Given the description of an element on the screen output the (x, y) to click on. 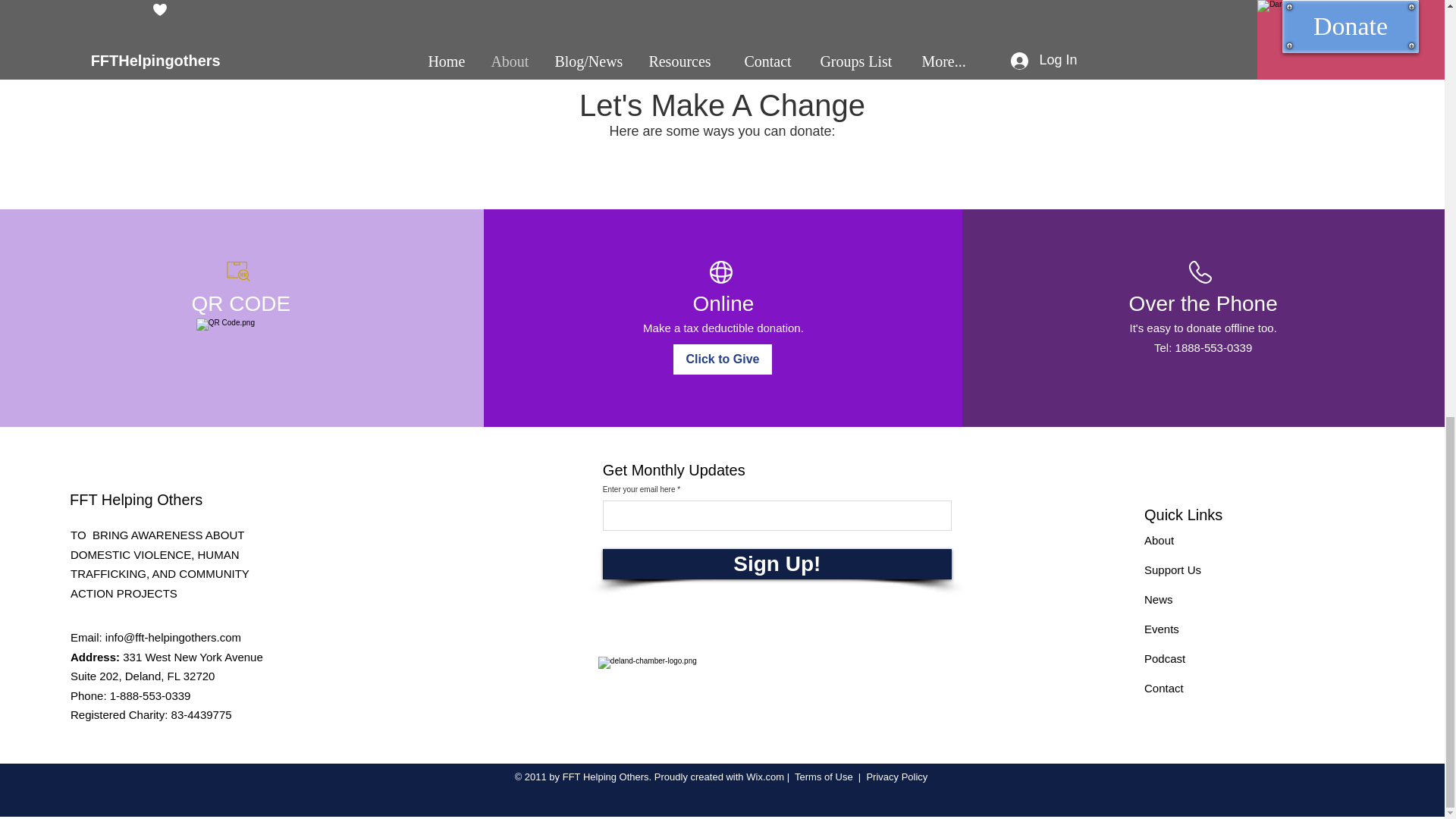
Sign Up! (777, 563)
About (1158, 540)
Events (1161, 628)
Wix.com (764, 776)
Support Us (1172, 569)
Terms of Use (823, 776)
Contact (1163, 687)
Click to Give (721, 358)
Podcast (1164, 658)
News (1158, 599)
Privacy Policy (896, 776)
